Given the description of an element on the screen output the (x, y) to click on. 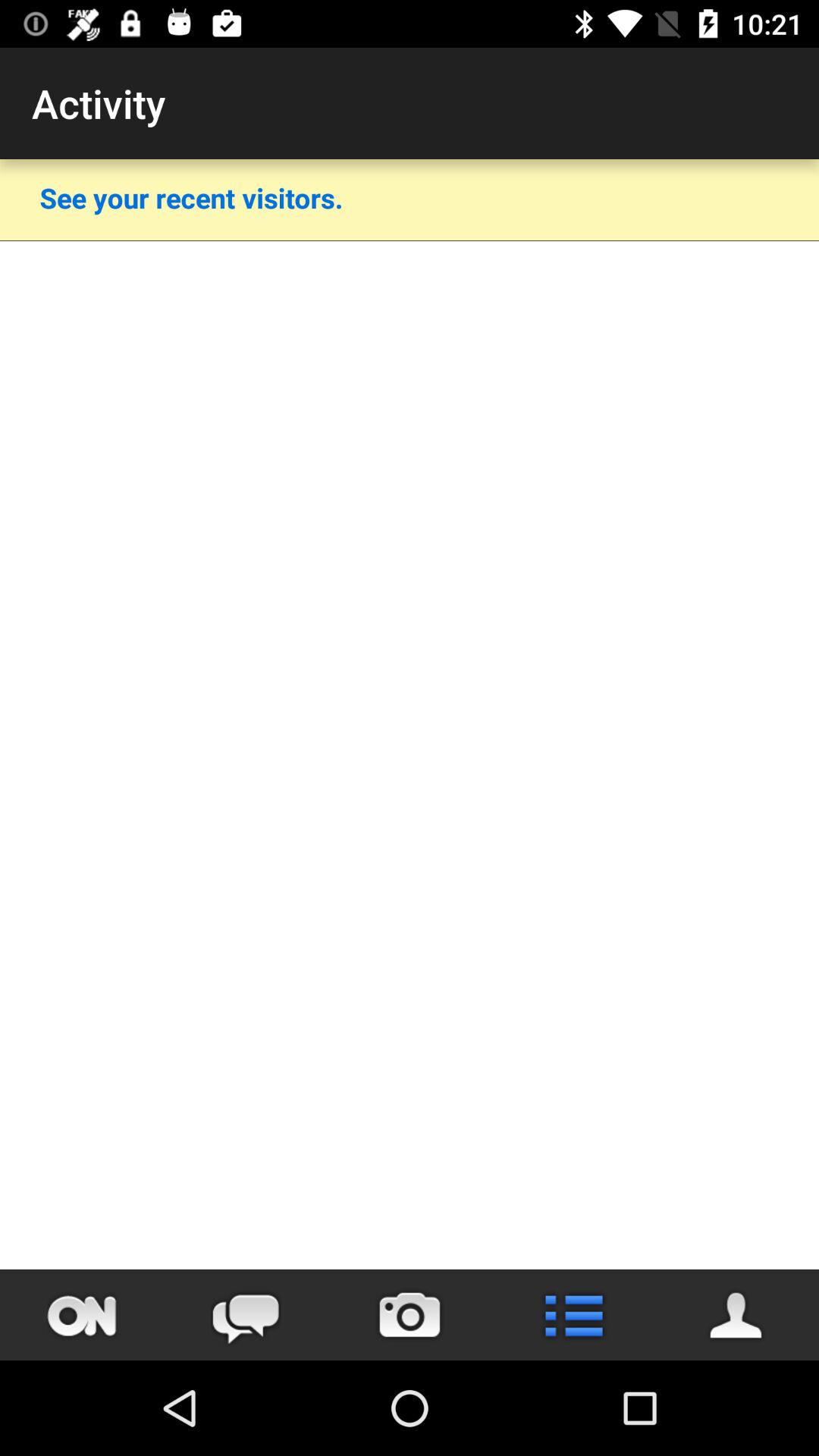
select the item below activity item (190, 197)
